Given the description of an element on the screen output the (x, y) to click on. 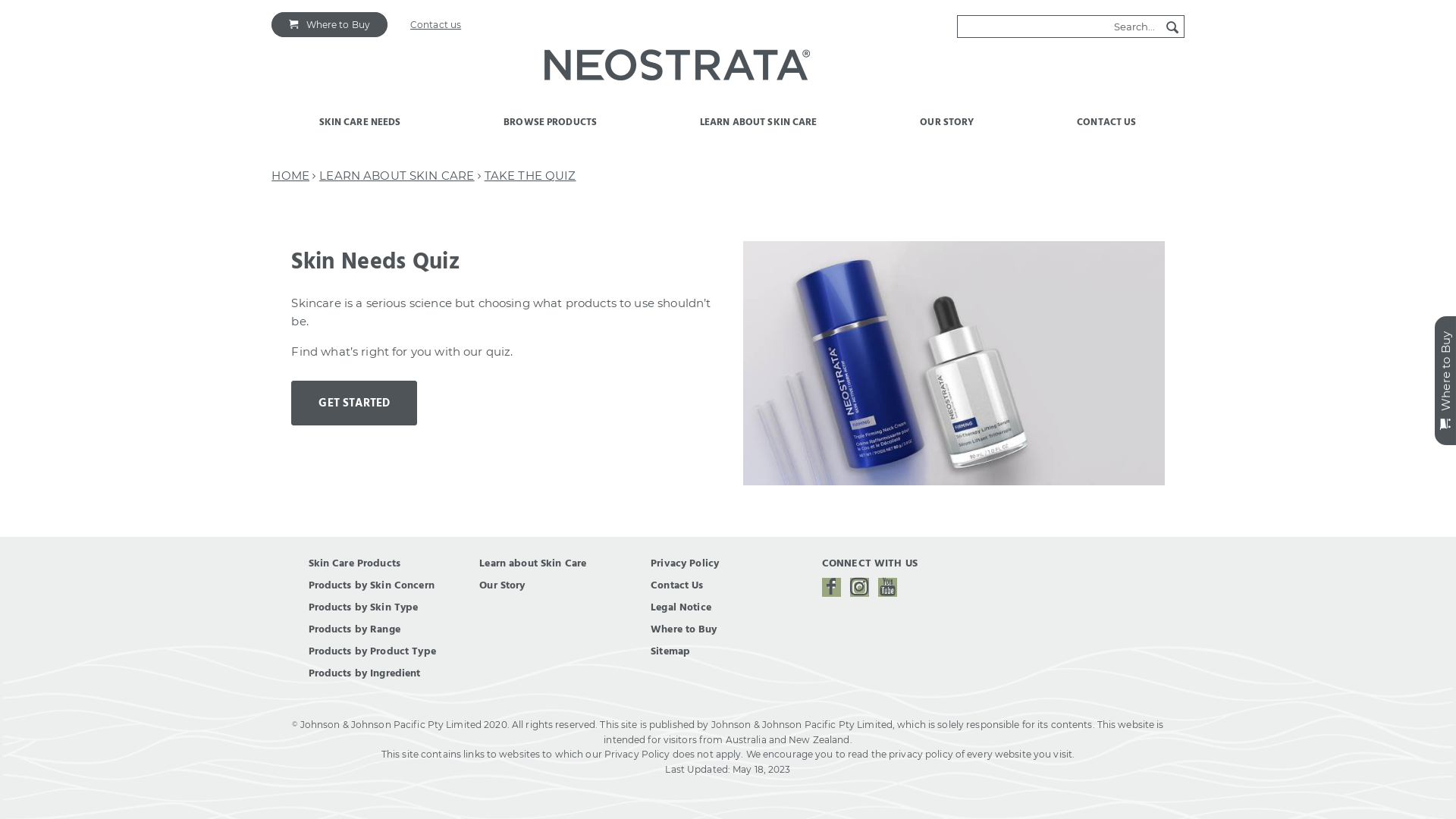
Products by Range Element type: text (354, 629)
BROWSE PRODUCTS Element type: text (550, 130)
Legal Notice Element type: text (680, 607)
HOME Element type: text (290, 175)
Home Element type: hover (676, 68)
Products by Skin Type Element type: text (363, 607)
Our Story Element type: text (501, 585)
Products by Ingredient Element type: text (364, 672)
Contact us Element type: text (435, 24)
OUR STORY Element type: text (947, 130)
GET STARTED Element type: text (354, 402)
Sitemap Element type: text (670, 650)
Search Element type: text (1172, 26)
Learn about Skin Care Element type: text (532, 563)
Where to Buy Element type: text (683, 629)
Where to Buy Element type: text (329, 24)
CONTACT US Element type: text (1106, 130)
Products by Skin Concern Element type: text (371, 585)
Instagram Element type: text (859, 586)
SKIN CARE NEEDS Element type: text (360, 130)
Facebook Element type: text (831, 586)
Skip to main content Element type: text (51, 0)
Skin Care Products Element type: text (354, 563)
LEARN ABOUT SKIN CARE Element type: text (396, 175)
Enter the terms you wish to search for. Element type: hover (1059, 26)
Youtube Element type: text (887, 586)
Contact Us Element type: text (676, 585)
LEARN ABOUT SKIN CARE Element type: text (758, 130)
Privacy Policy Element type: text (684, 563)
Products by Product Type Element type: text (372, 650)
